Given the description of an element on the screen output the (x, y) to click on. 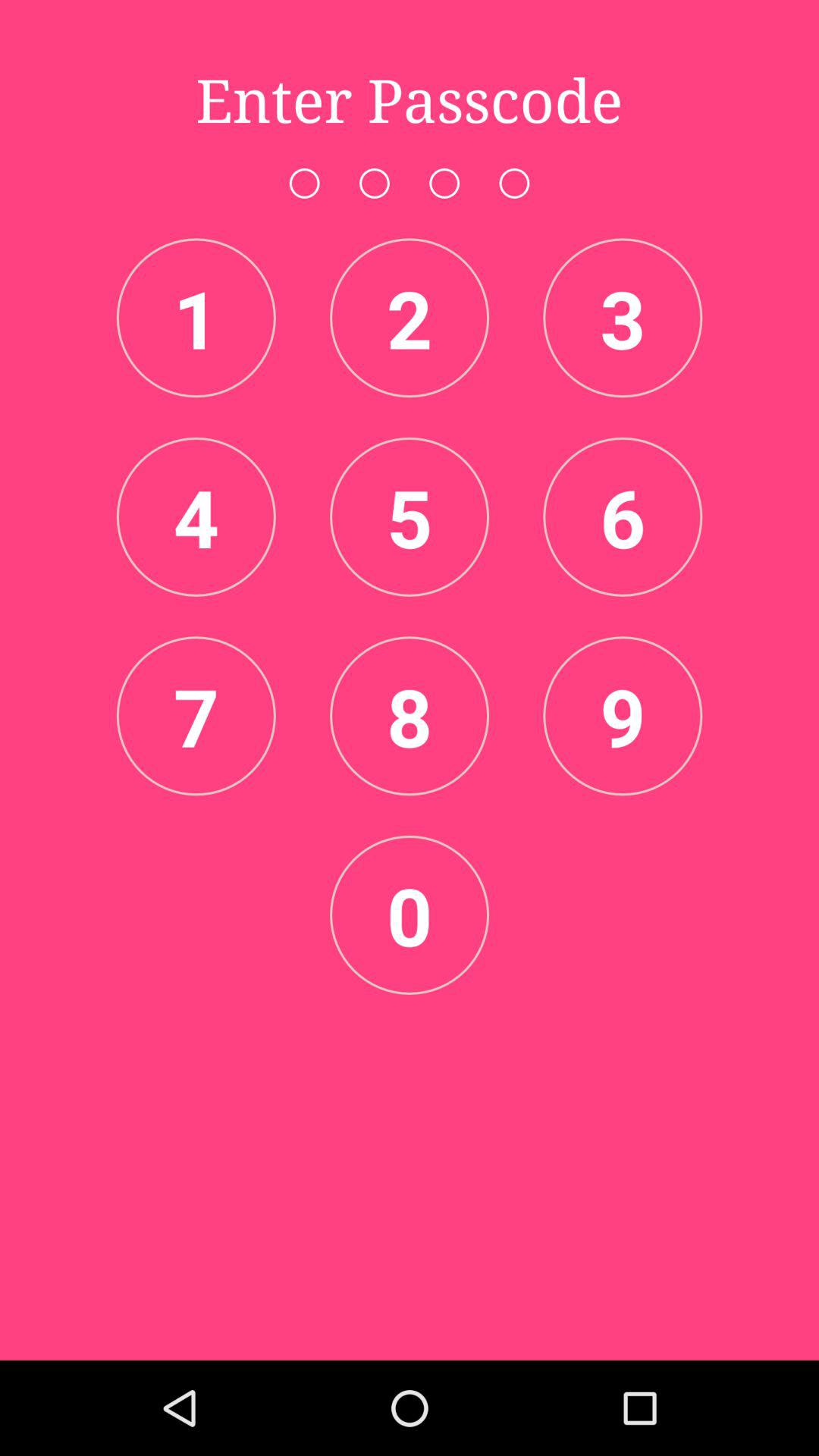
scroll until 8 (409, 715)
